Given the description of an element on the screen output the (x, y) to click on. 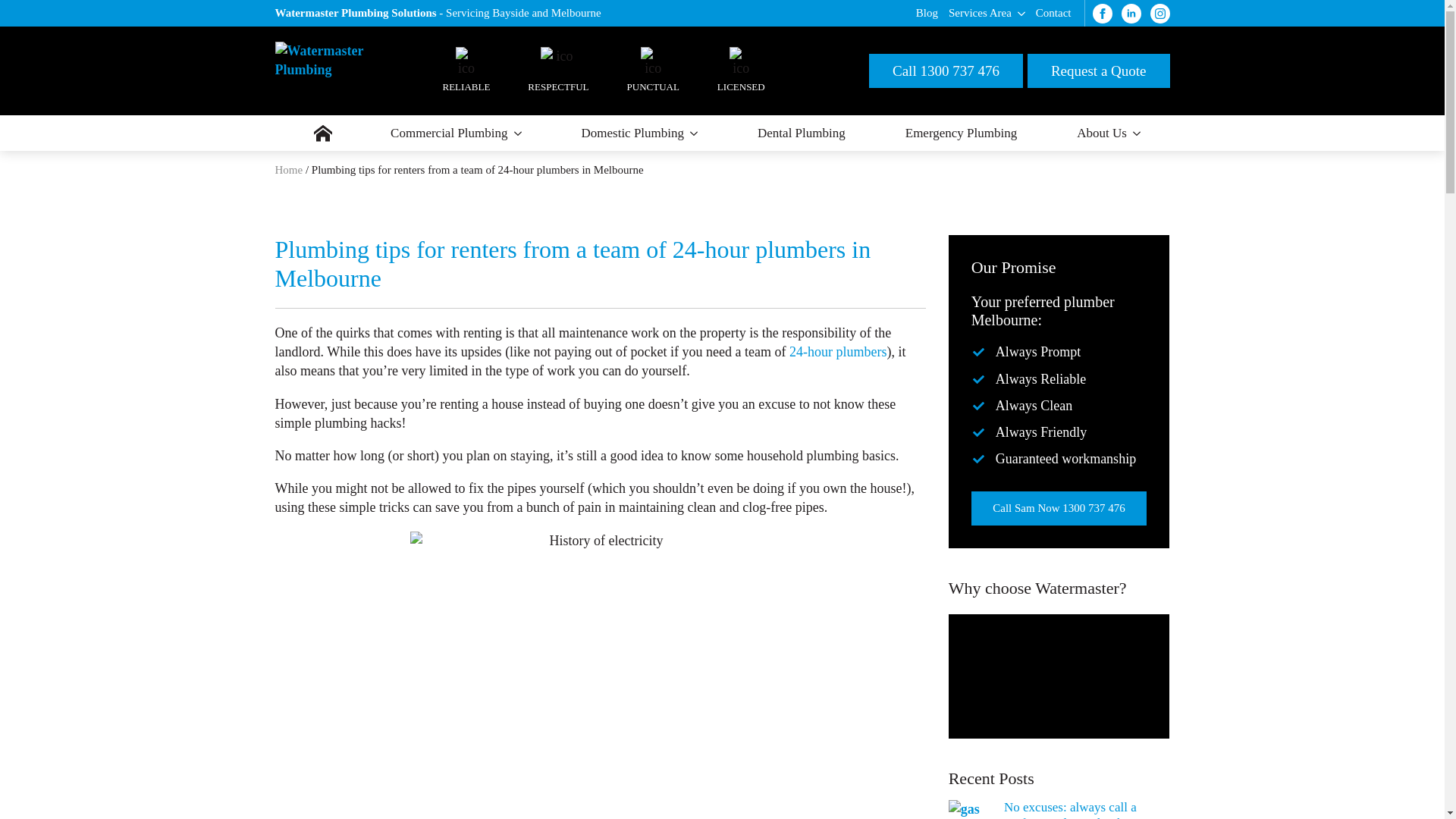
Domestic Plumbing (630, 132)
Services Area (977, 13)
Blog (927, 13)
Contact (1053, 13)
Request a Quote (1098, 70)
Commercial Plumbing (445, 132)
Call 1300 737 476 (946, 70)
